Given the description of an element on the screen output the (x, y) to click on. 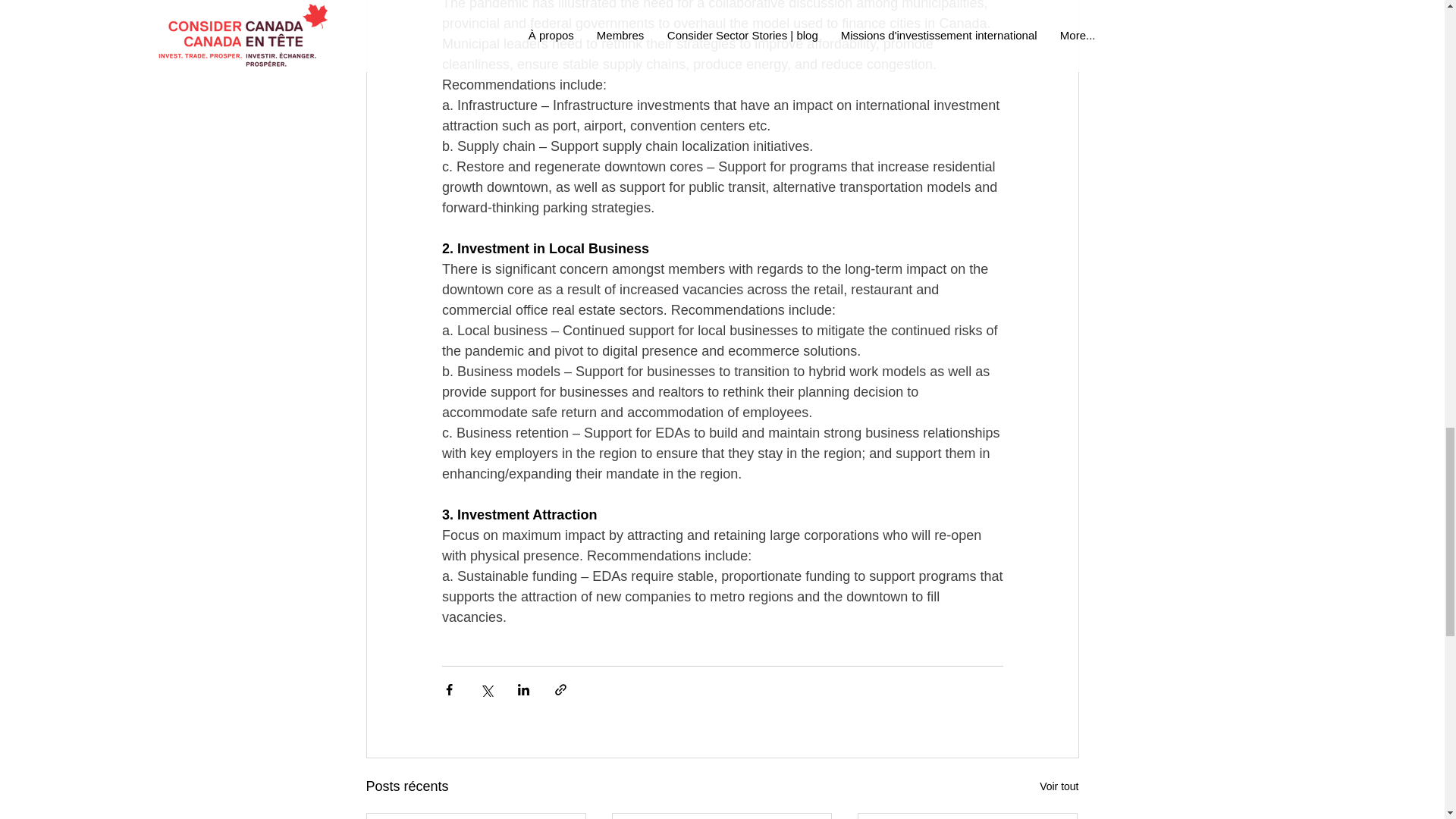
Voir tout (1058, 786)
